Given the description of an element on the screen output the (x, y) to click on. 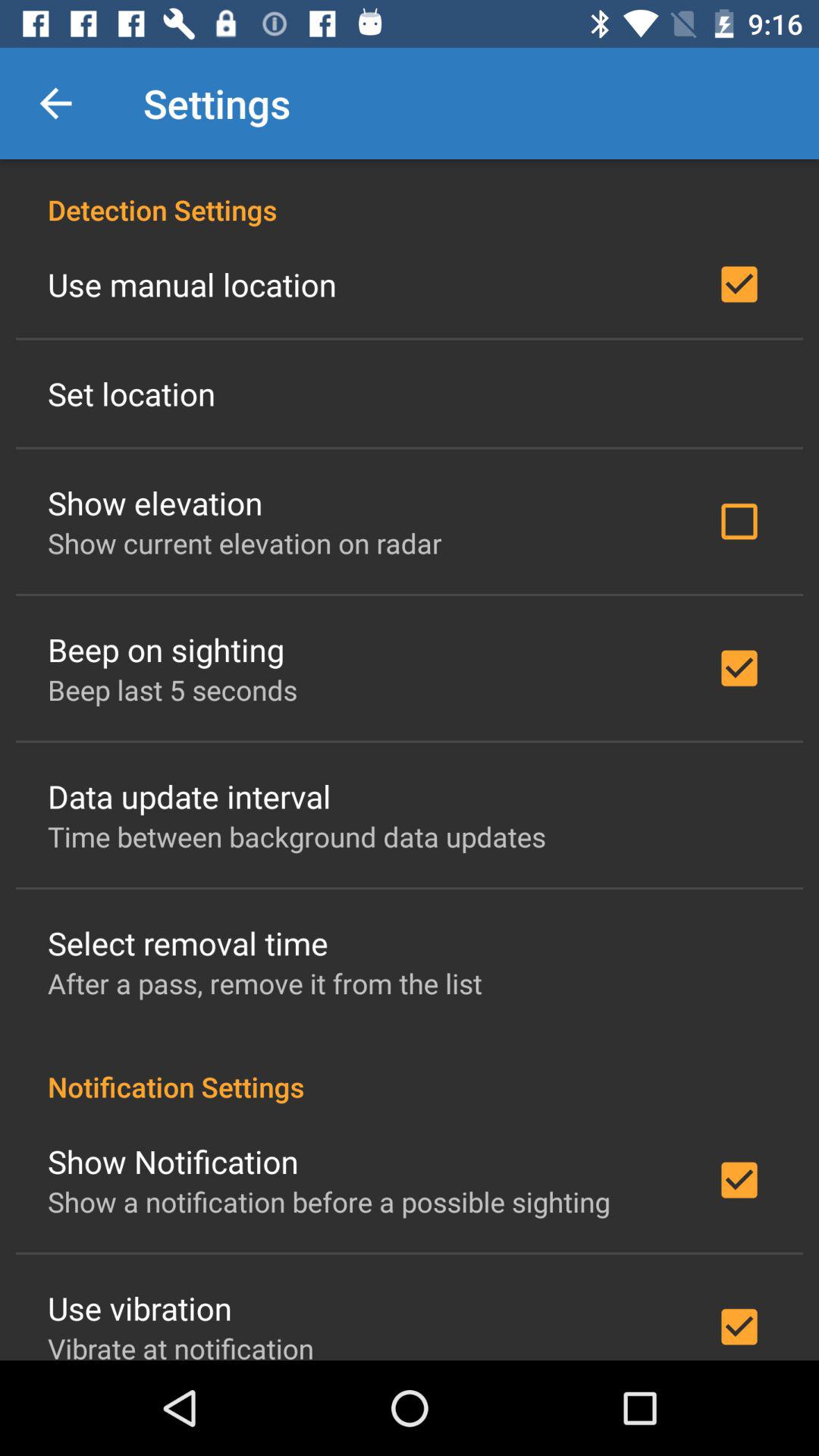
press the data update interval icon (189, 795)
